Given the description of an element on the screen output the (x, y) to click on. 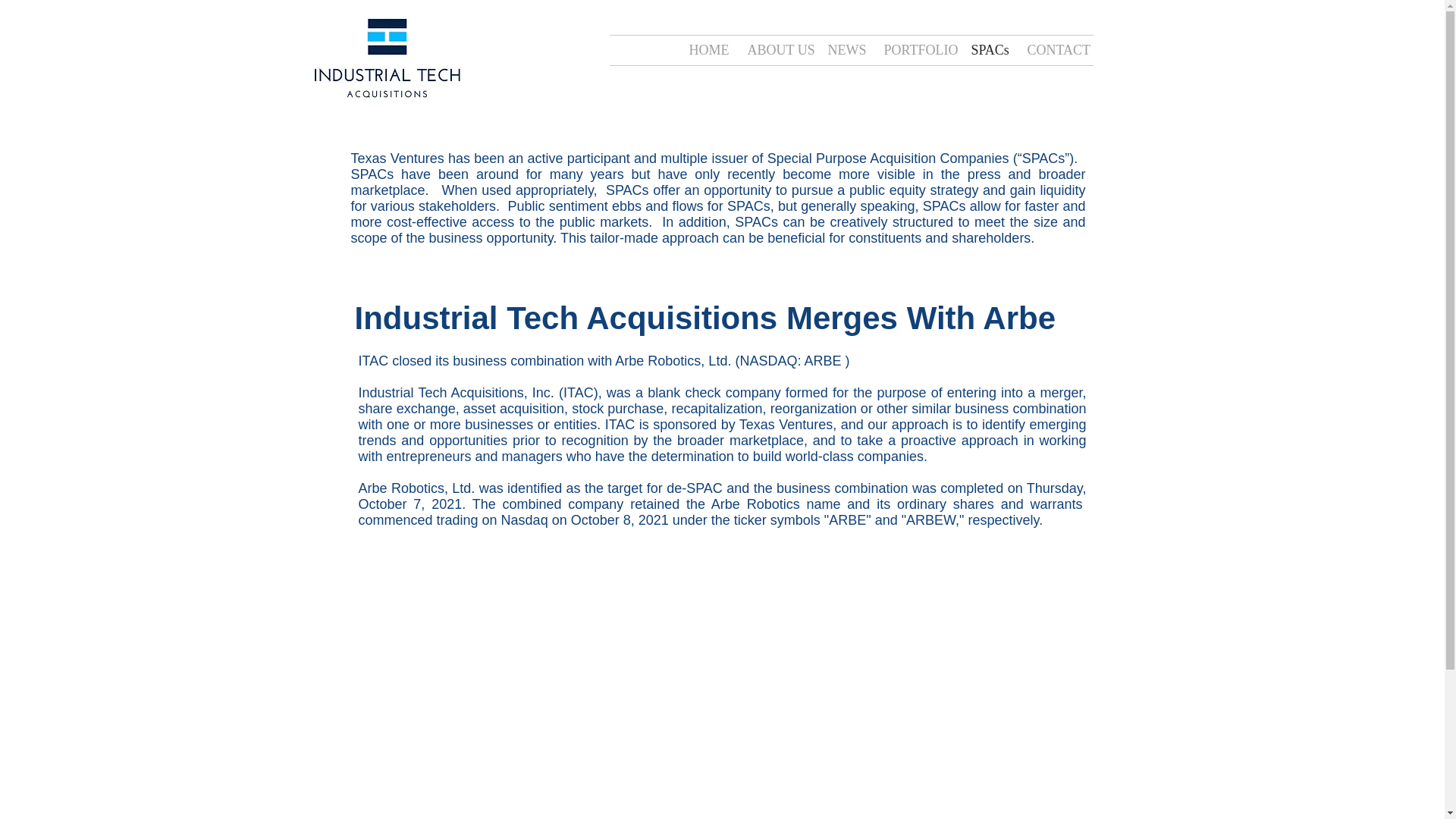
CONTACT (1054, 50)
ABOUT US (775, 50)
HOME (707, 50)
SPACs (987, 50)
PORTFOLIO (915, 50)
NEWS (843, 50)
